Given the description of an element on the screen output the (x, y) to click on. 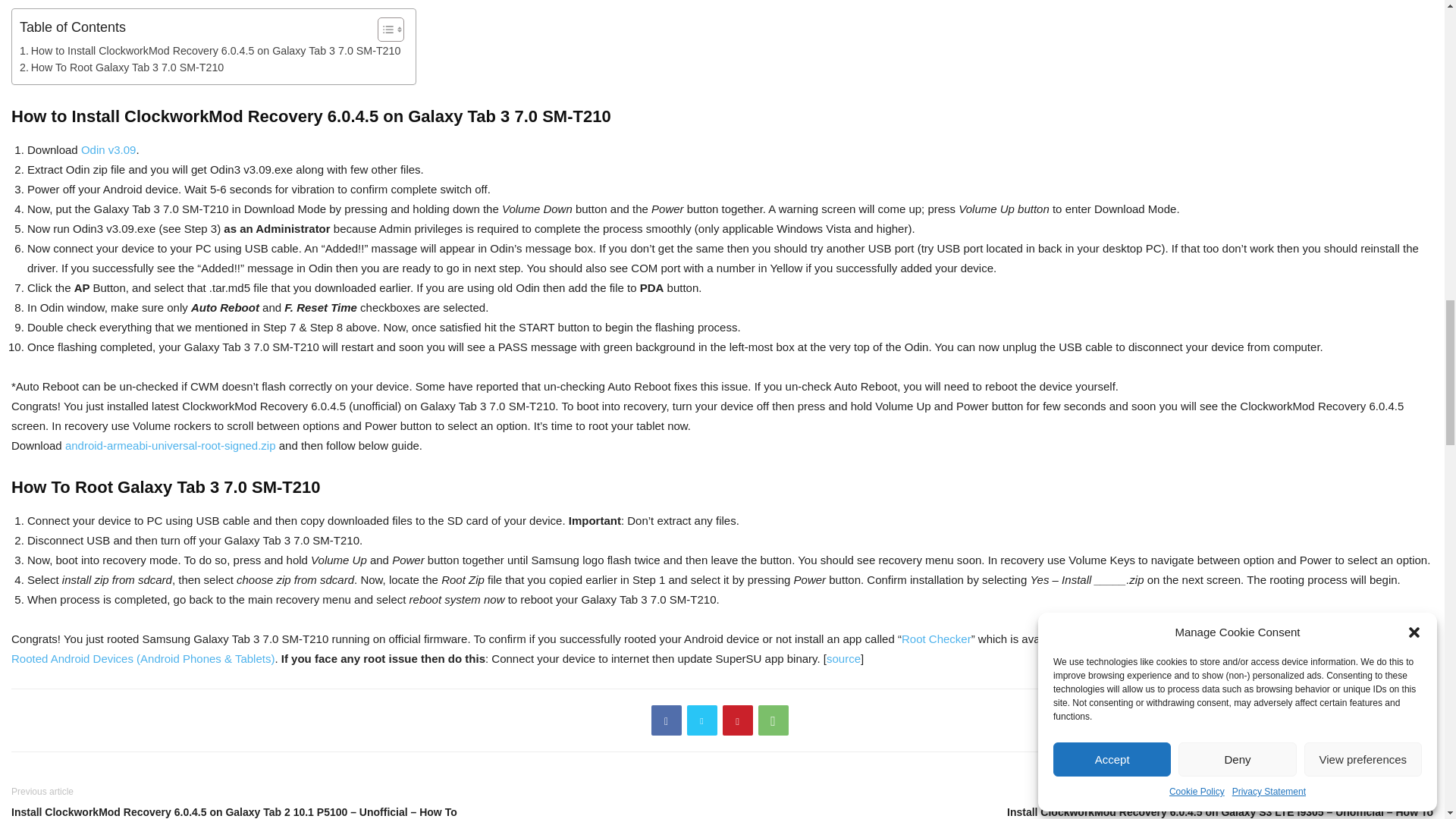
How To Root Galaxy Tab 3 7.0 SM-T210 (122, 67)
Pinterest (737, 720)
WhatsApp (773, 720)
Facebook (665, 720)
Twitter (702, 720)
